Given the description of an element on the screen output the (x, y) to click on. 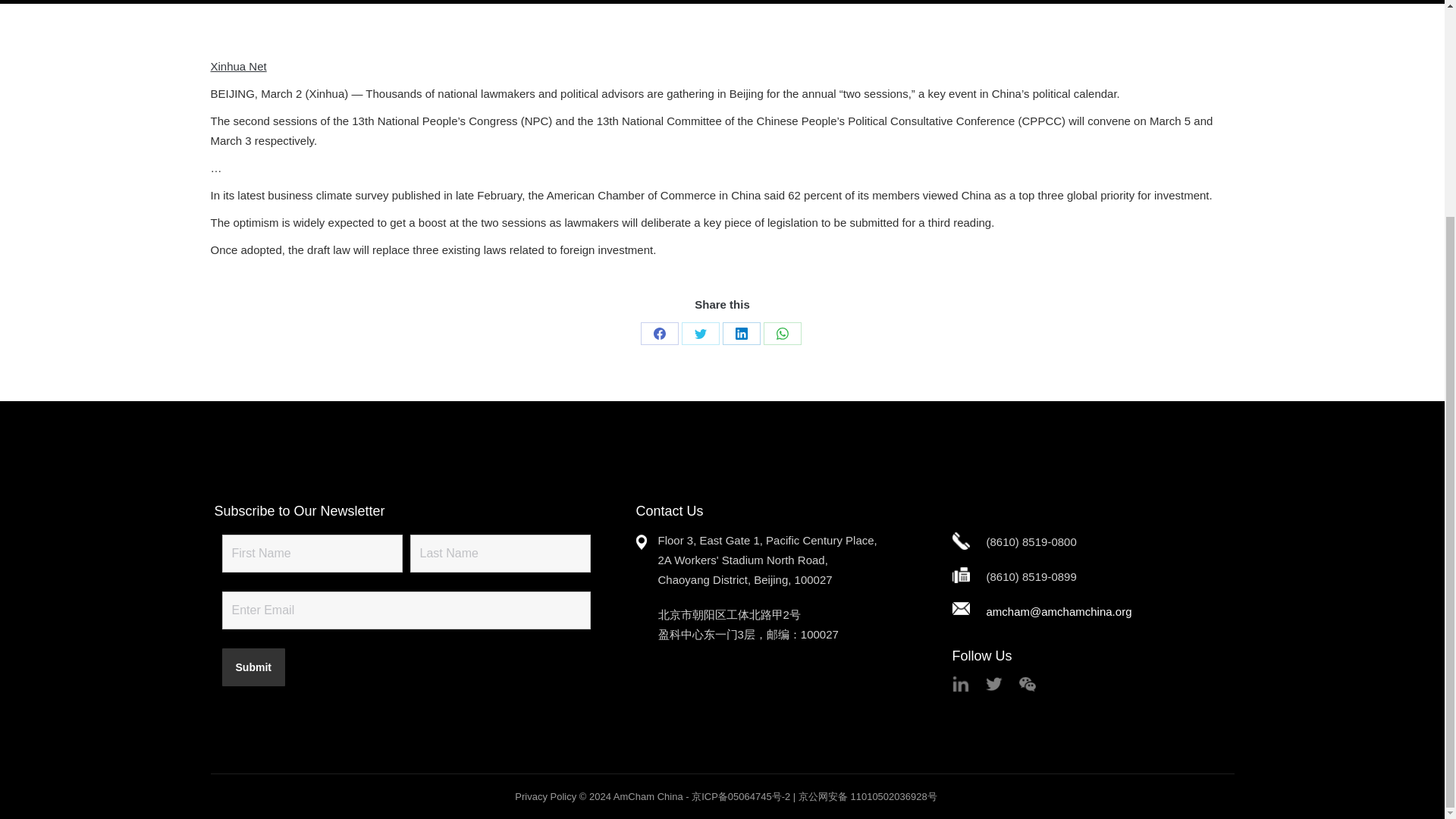
Twitter (700, 333)
LinkedIn (741, 333)
Submit (252, 667)
WhatsApp (781, 333)
Facebook (659, 333)
